Given the description of an element on the screen output the (x, y) to click on. 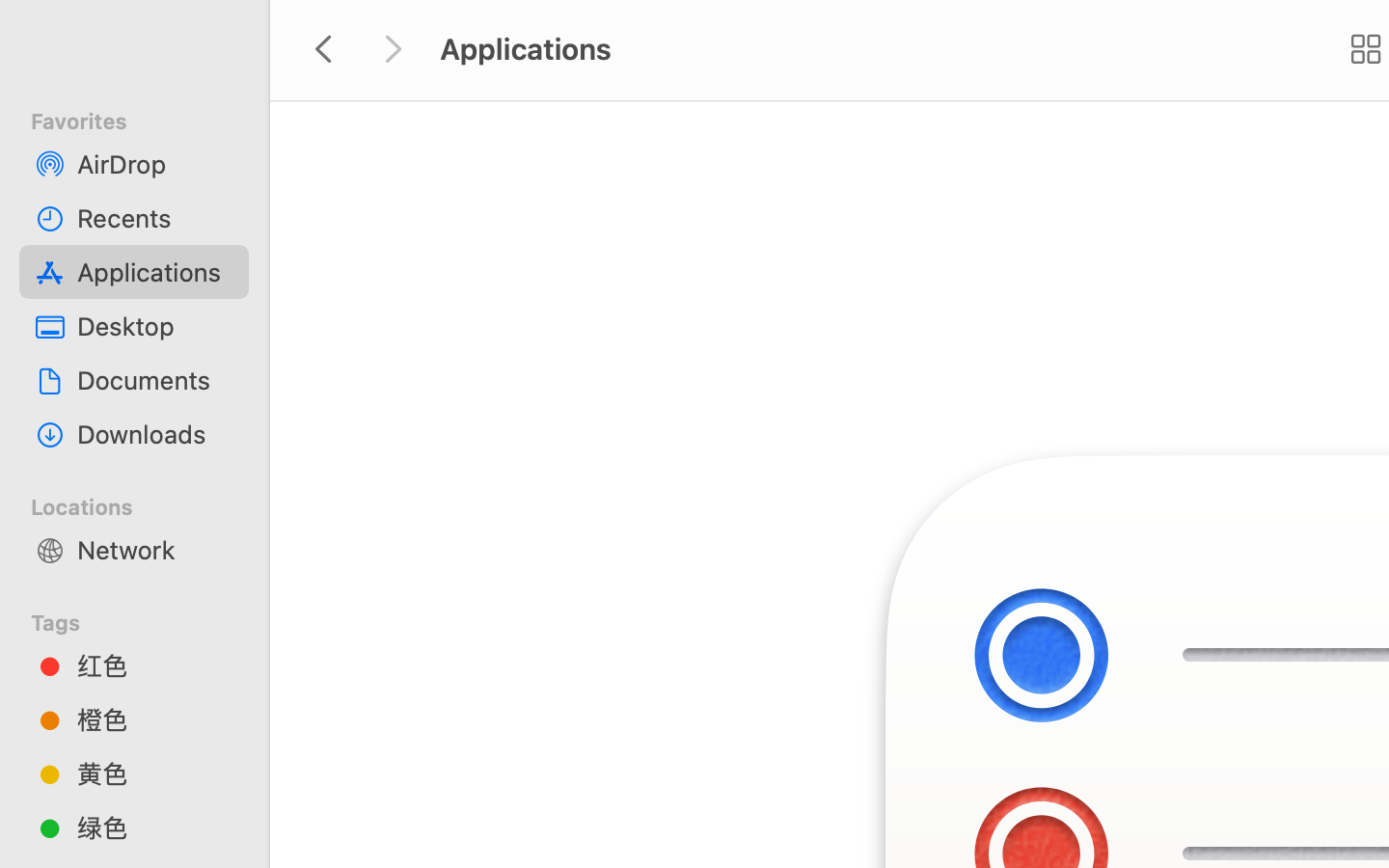
橙色 Element type: AXStaticText (155, 719)
Favorites Element type: AXStaticText (145, 118)
Downloads Element type: AXStaticText (155, 433)
Locations Element type: AXStaticText (145, 504)
AirDrop Element type: AXStaticText (155, 163)
